Given the description of an element on the screen output the (x, y) to click on. 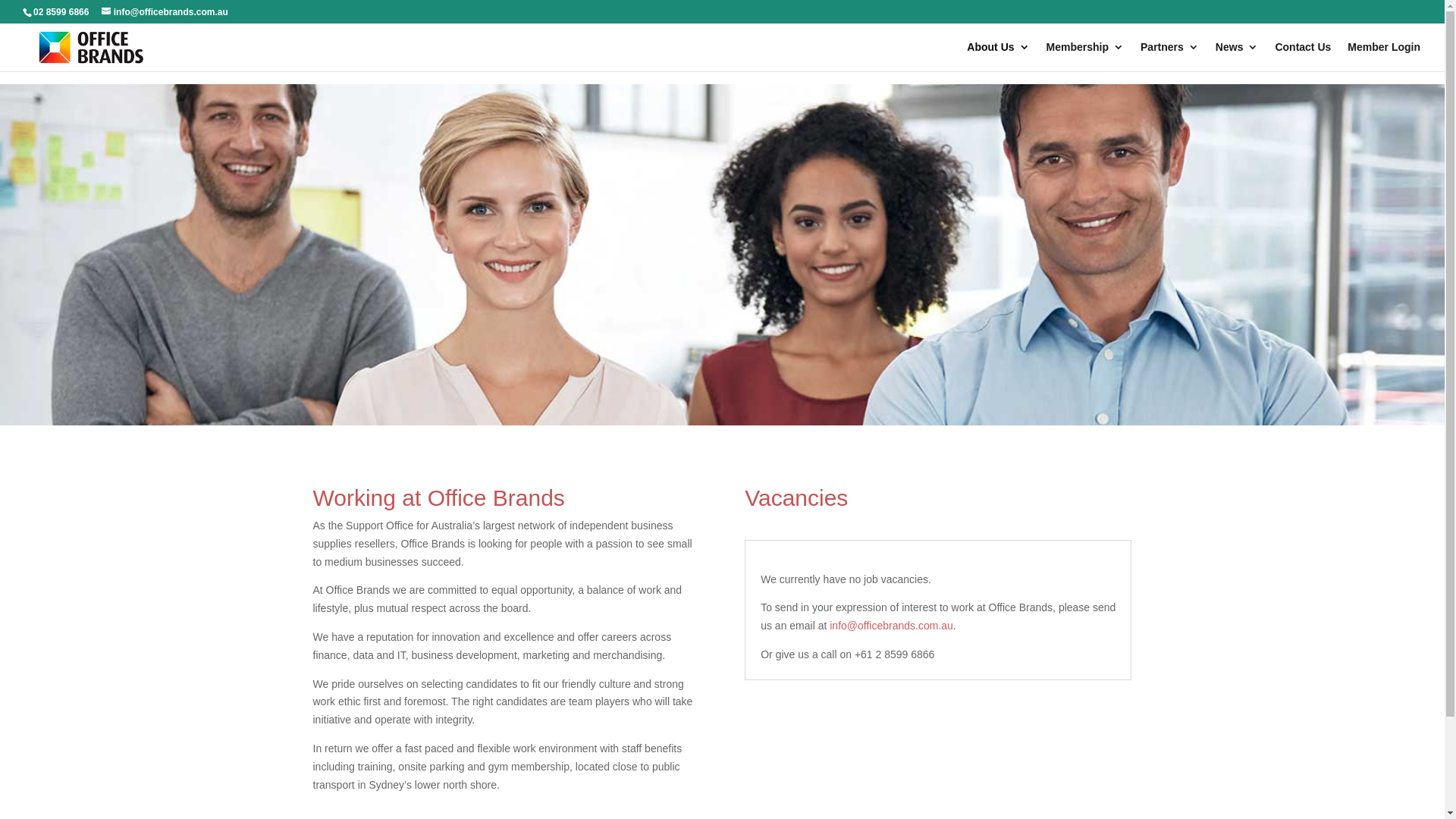
info@officebrands.com.au Element type: text (164, 11)
Member Login Element type: text (1383, 56)
info@officebrands.com.au Element type: text (891, 625)
Partners Element type: text (1169, 56)
News Element type: text (1236, 56)
About Us Element type: text (997, 56)
Membership Element type: text (1084, 56)
Contact Us Element type: text (1302, 56)
